Given the description of an element on the screen output the (x, y) to click on. 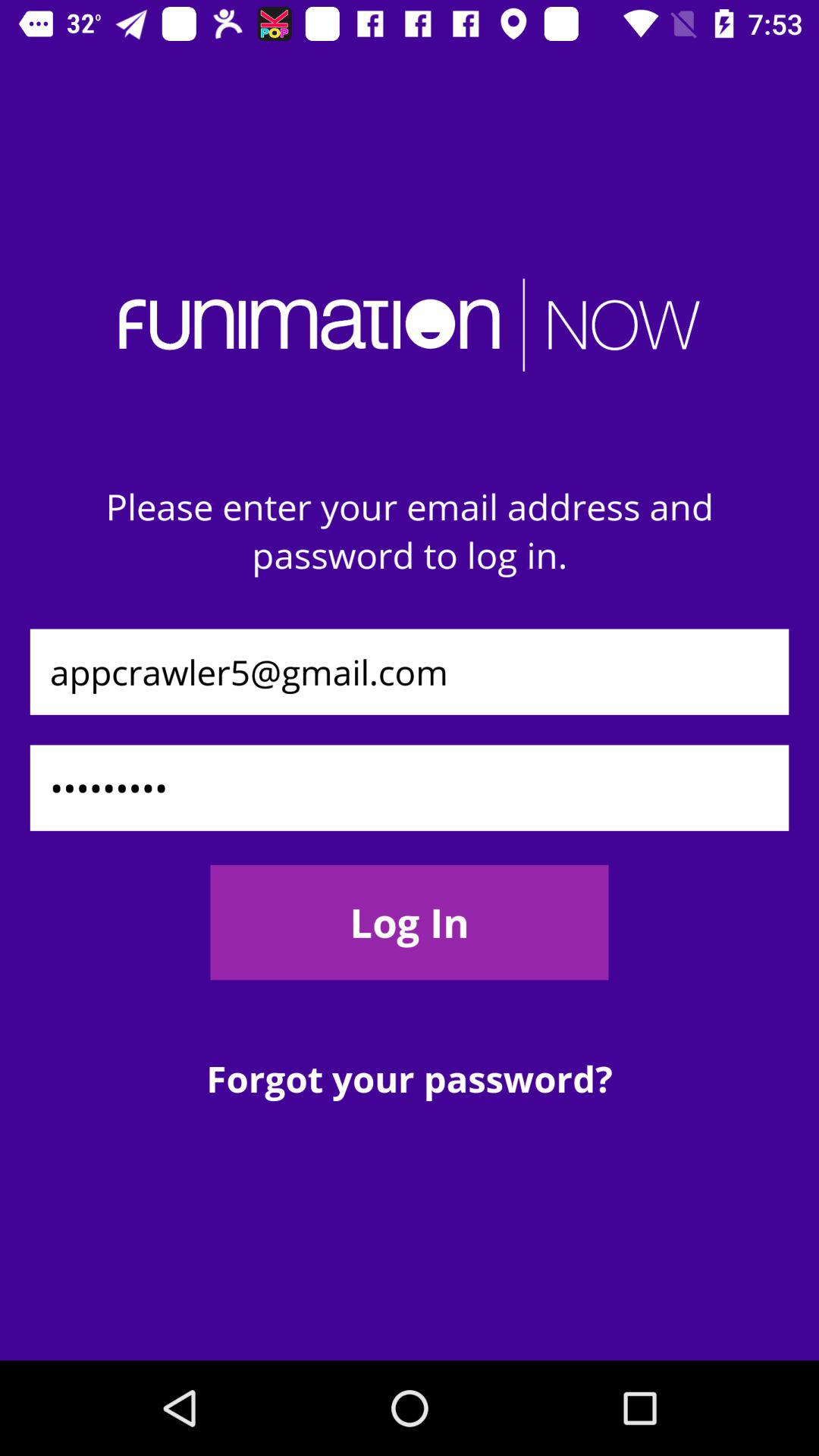
tap icon above crowd3116 icon (409, 671)
